Given the description of an element on the screen output the (x, y) to click on. 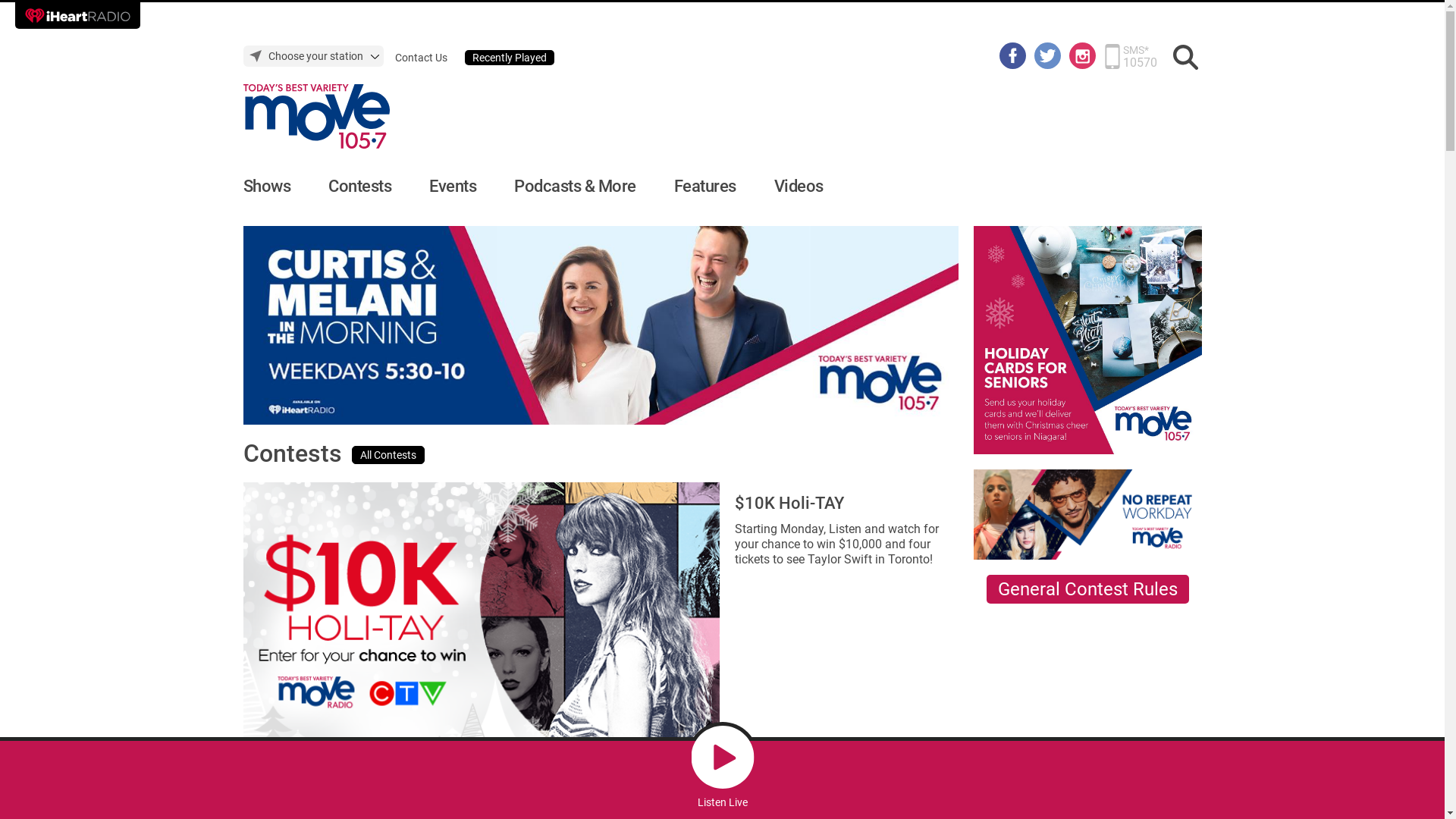
iHeartRadio Element type: text (77, 15)
Contact Us Element type: text (420, 57)
Videos Element type: text (797, 186)
All Contests Element type: text (387, 454)
Recently Played Element type: text (508, 57)
Instagram Element type: text (1082, 54)
General Contest Rules Element type: text (1086, 588)
$10K Holi-TAY Element type: text (789, 502)
Contests Element type: text (359, 186)
Podcasts & More Element type: text (575, 186)
10570 Element type: text (1139, 62)
Choose your station Element type: text (312, 55)
Shows Element type: text (266, 186)
Events Element type: text (452, 186)
Search... Element type: hover (1185, 56)
Facebook Element type: text (1012, 54)
Features Element type: text (704, 186)
Twitter Element type: text (1047, 54)
Play Element type: text (721, 756)
